Given the description of an element on the screen output the (x, y) to click on. 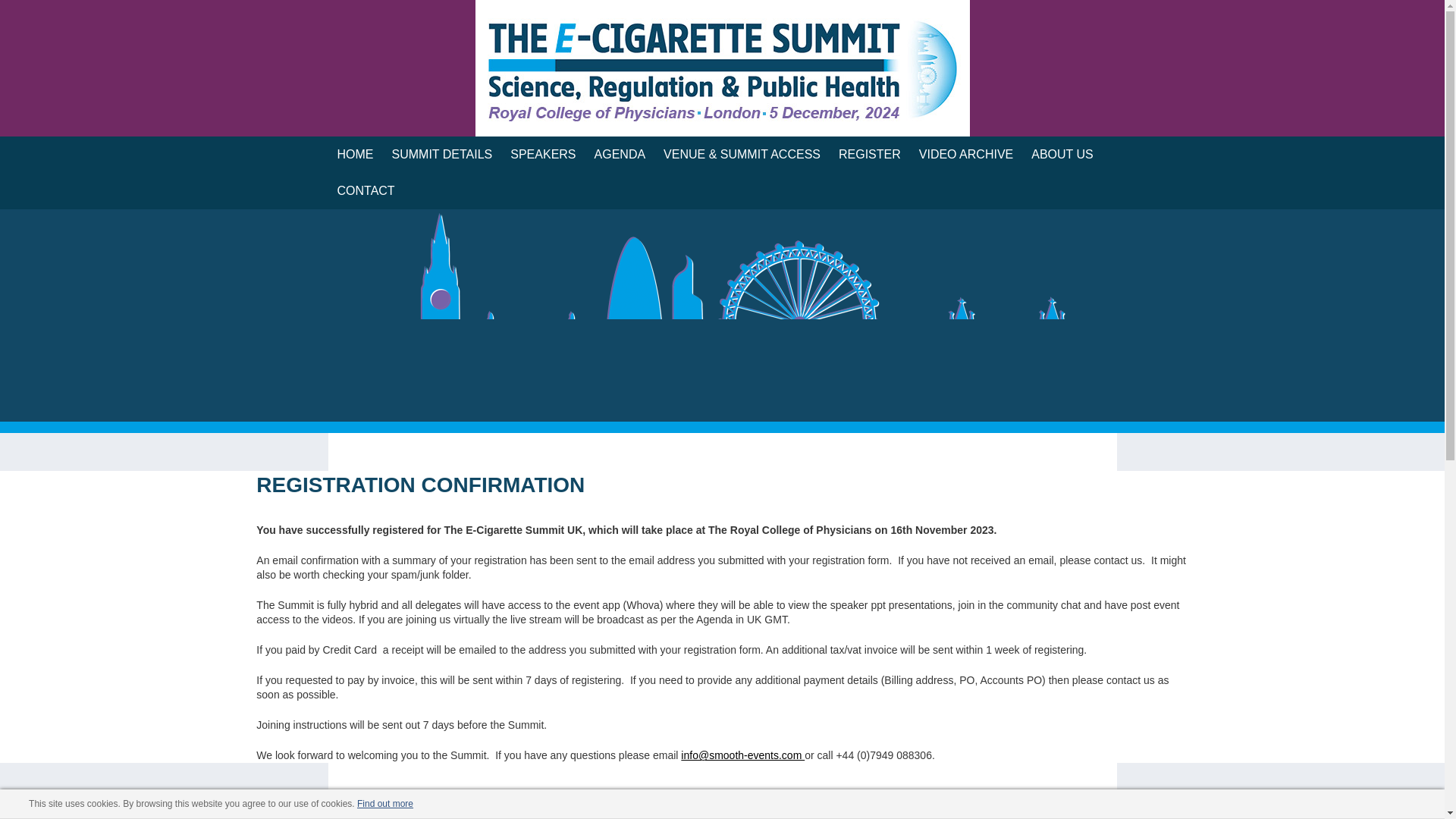
REGISTER (869, 154)
Find out more (384, 803)
AGENDA (620, 154)
CONTACT (365, 190)
VIDEO ARCHIVE (966, 154)
SPEAKERS (542, 154)
HOME (354, 154)
ABOUT US (1062, 154)
SUMMIT DETAILS (440, 154)
